Given the description of an element on the screen output the (x, y) to click on. 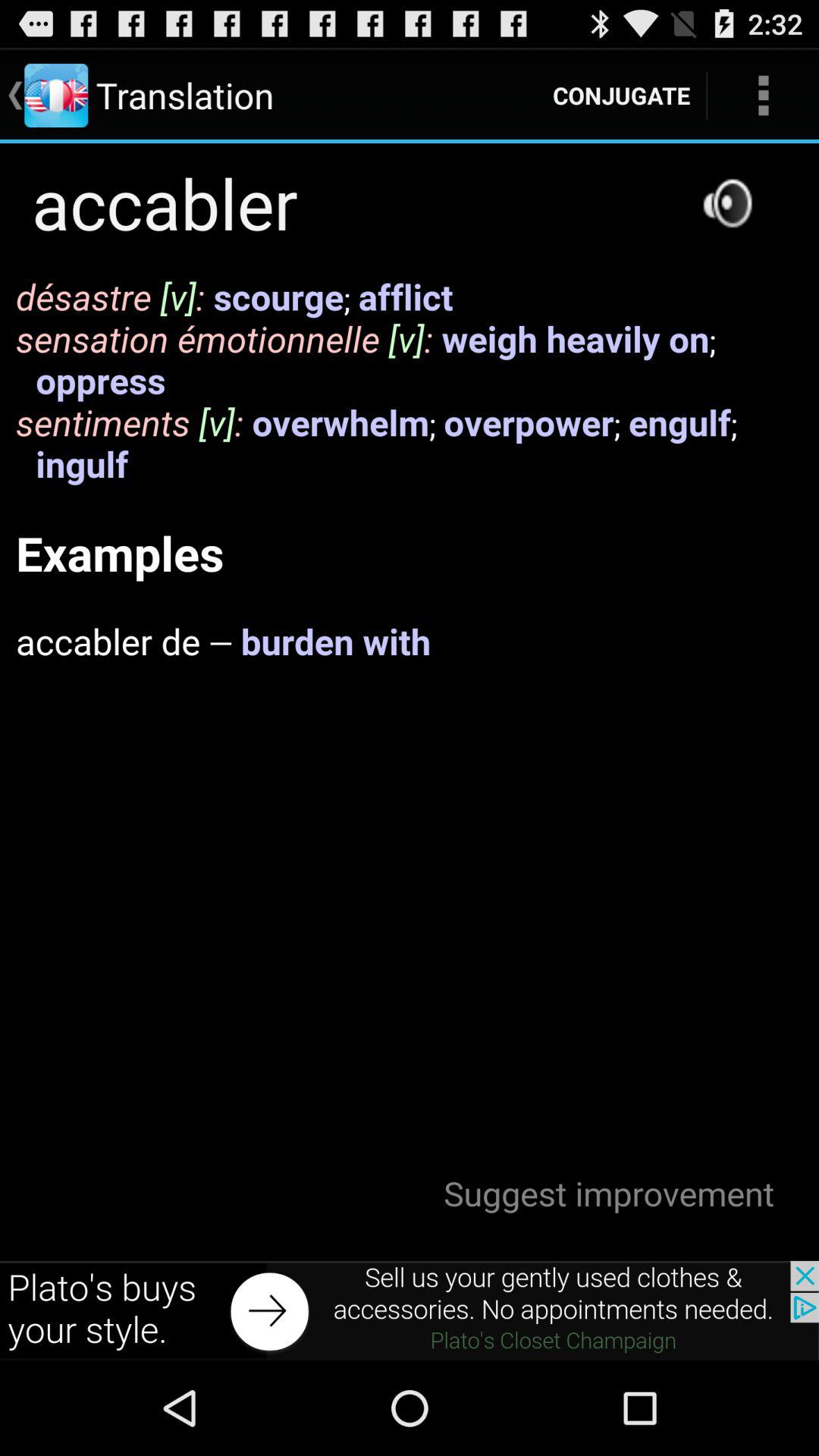
click for volume (727, 202)
